Given the description of an element on the screen output the (x, y) to click on. 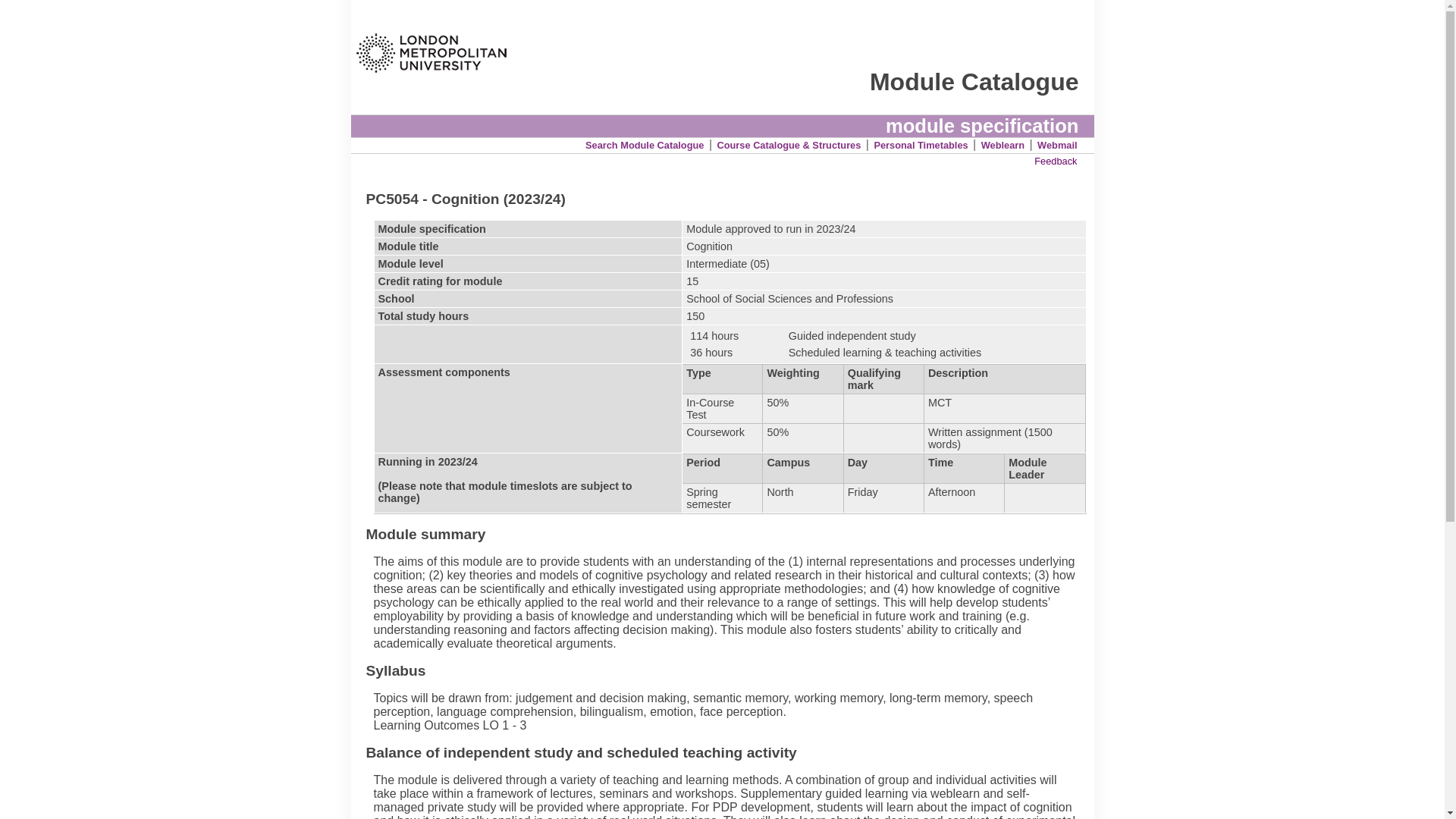
Search Module Catalogue (643, 144)
Weblearn (1002, 144)
Feedback (1055, 161)
Webmail (1056, 144)
Personal Timetables (920, 144)
